Given the description of an element on the screen output the (x, y) to click on. 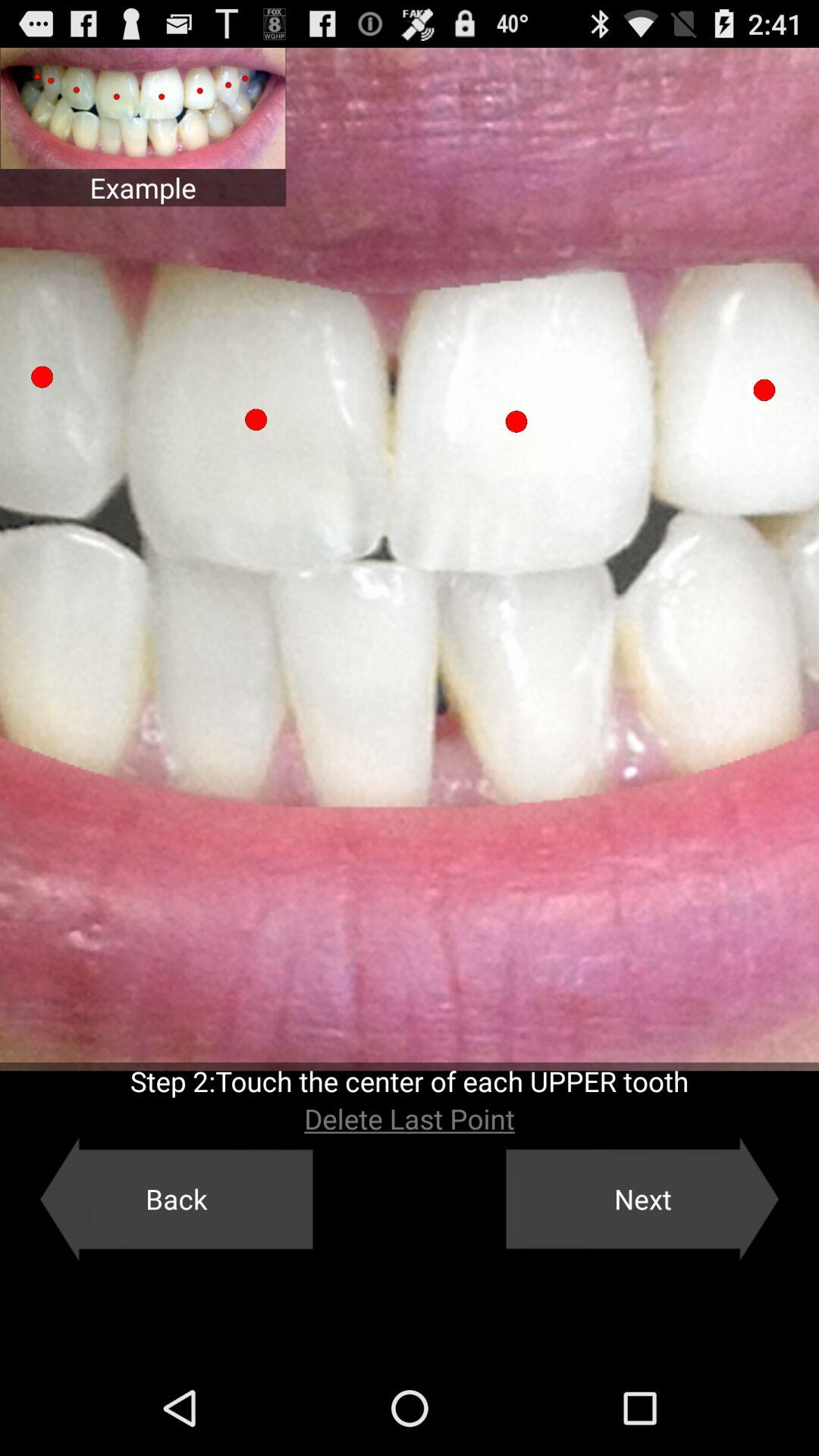
select button next to next (175, 1198)
